Given the description of an element on the screen output the (x, y) to click on. 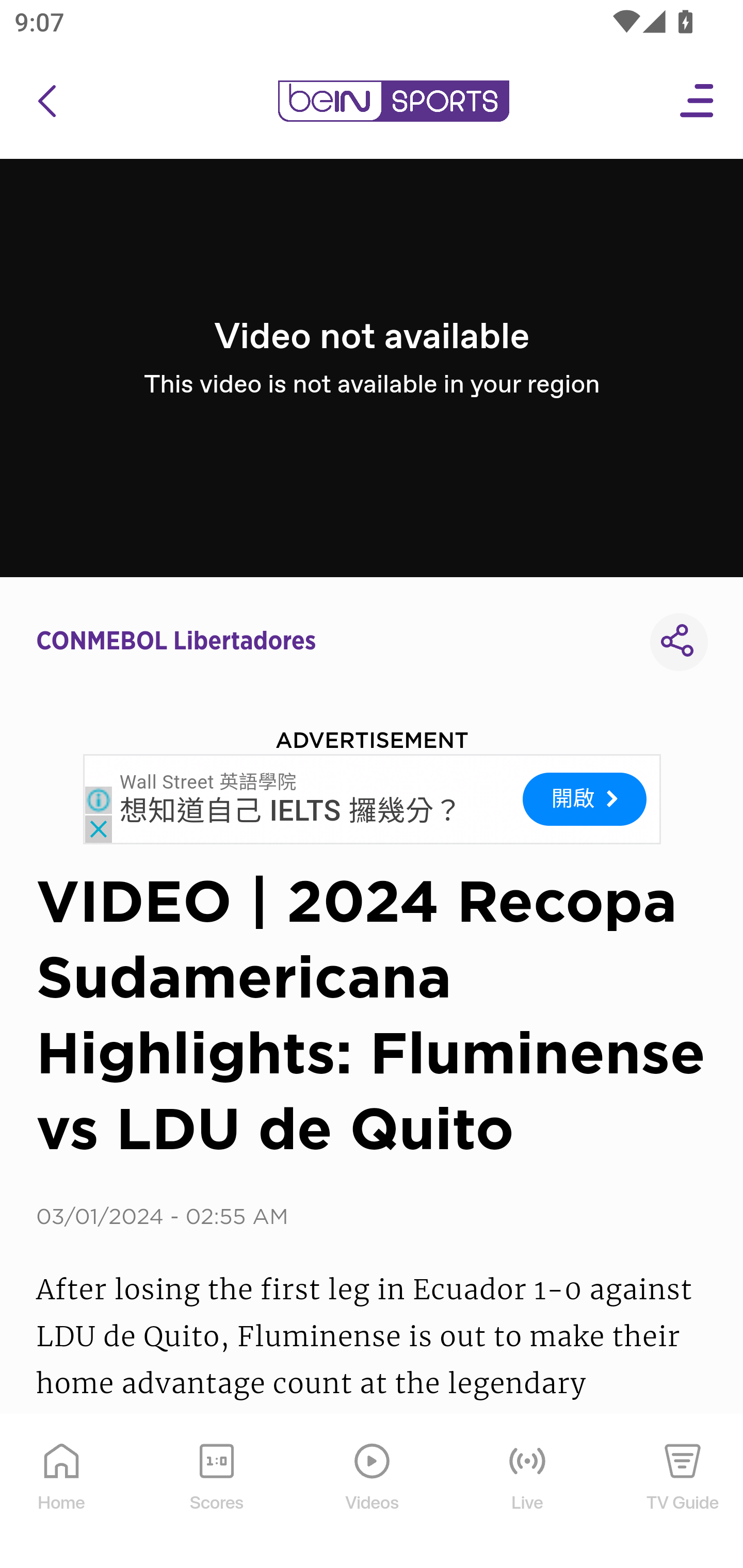
en-us?platform=mobile_android bein logo (392, 101)
icon back (46, 101)
Open Menu Icon (697, 101)
Wall Street 英語學院 (207, 781)
開啟 (584, 799)
想知道自己 IELTS 攞幾分？ (290, 810)
Home Home Icon Home (61, 1491)
Scores Scores Icon Scores (216, 1491)
Videos Videos Icon Videos (372, 1491)
TV Guide TV Guide Icon TV Guide (682, 1491)
